Given the description of an element on the screen output the (x, y) to click on. 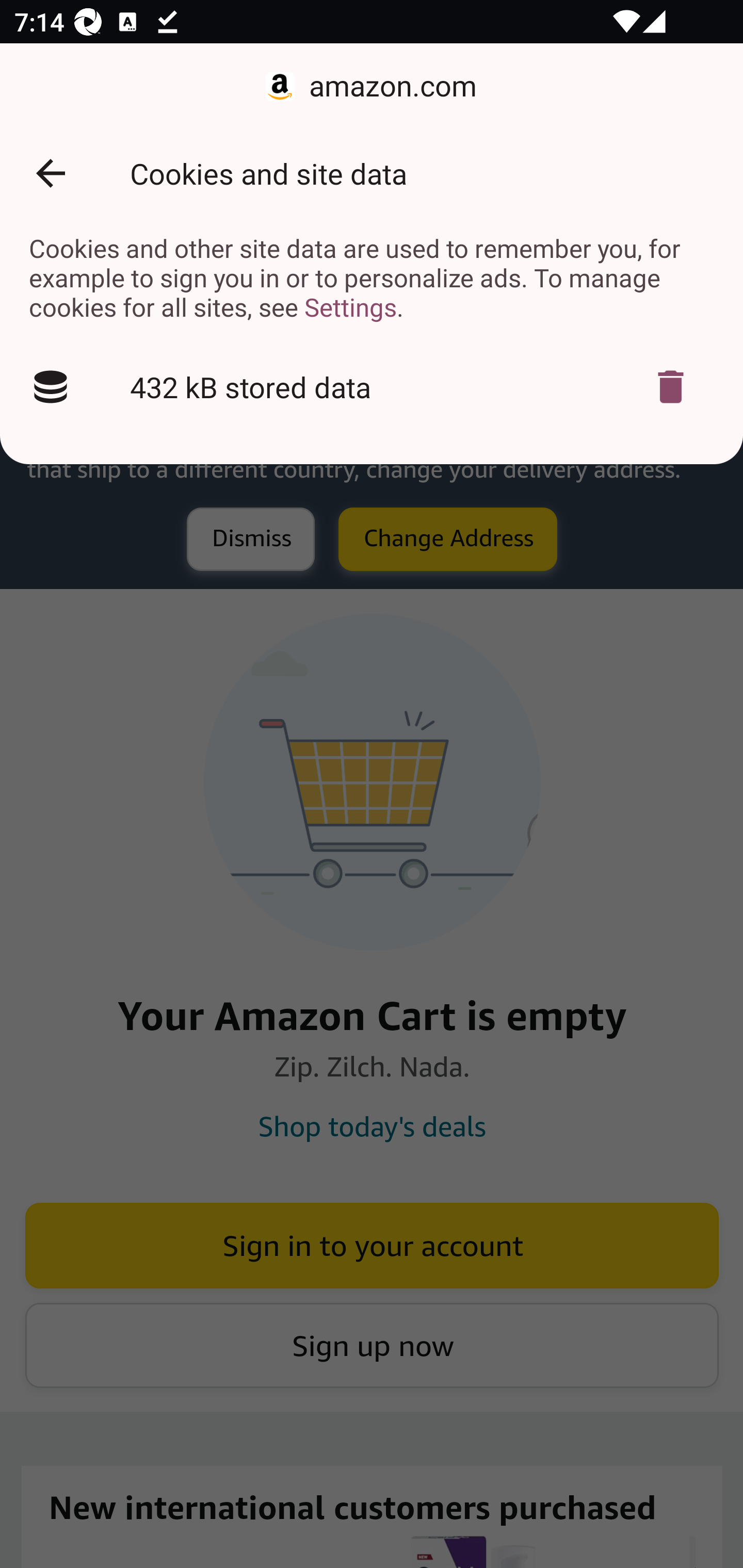
amazon.com (371, 86)
Back (50, 173)
432 kB stored data Delete cookies? (371, 386)
